Given the description of an element on the screen output the (x, y) to click on. 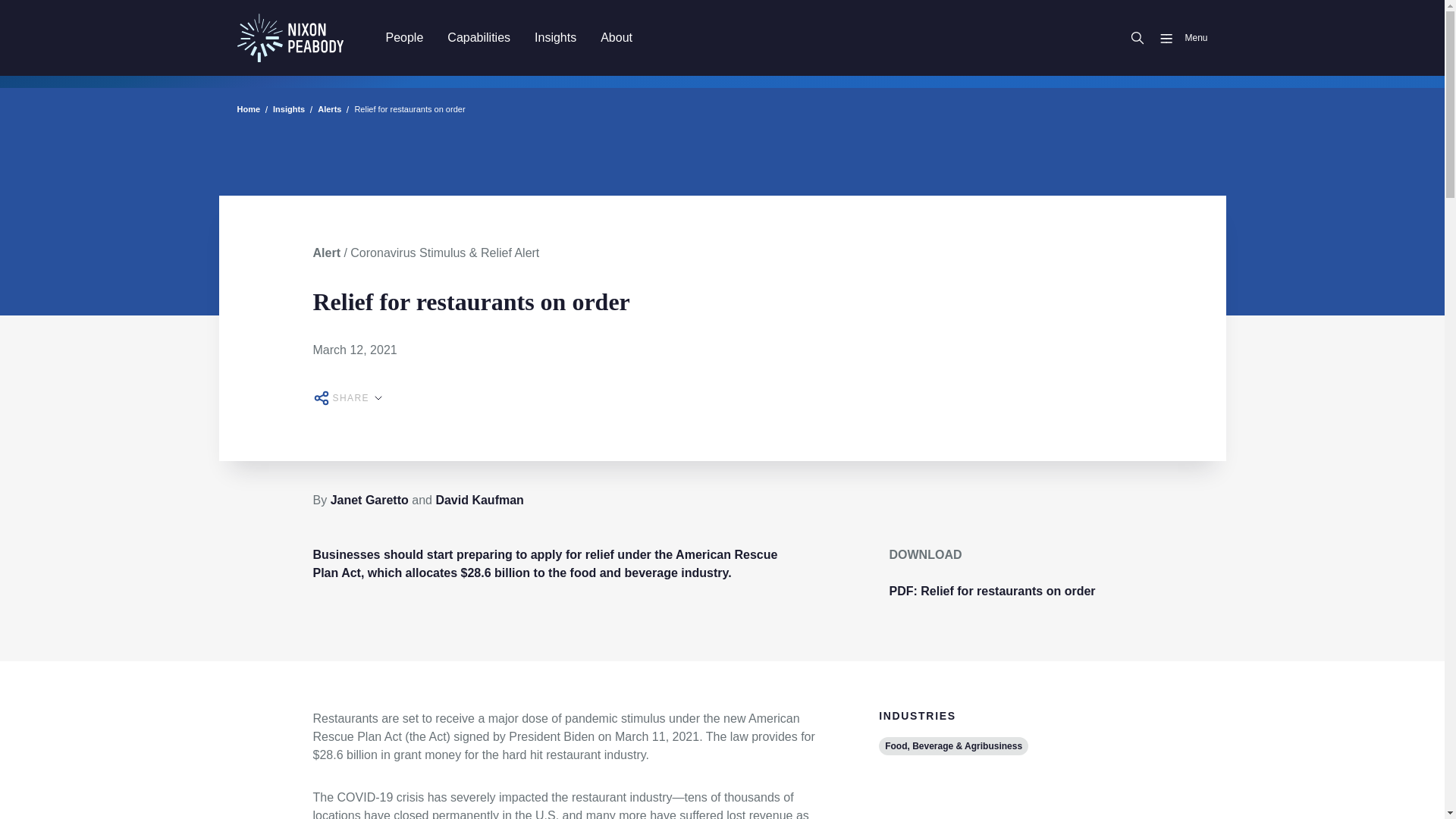
About (616, 37)
People (403, 37)
Menu (1177, 37)
Capabilities (478, 37)
Insights (555, 37)
